Given the description of an element on the screen output the (x, y) to click on. 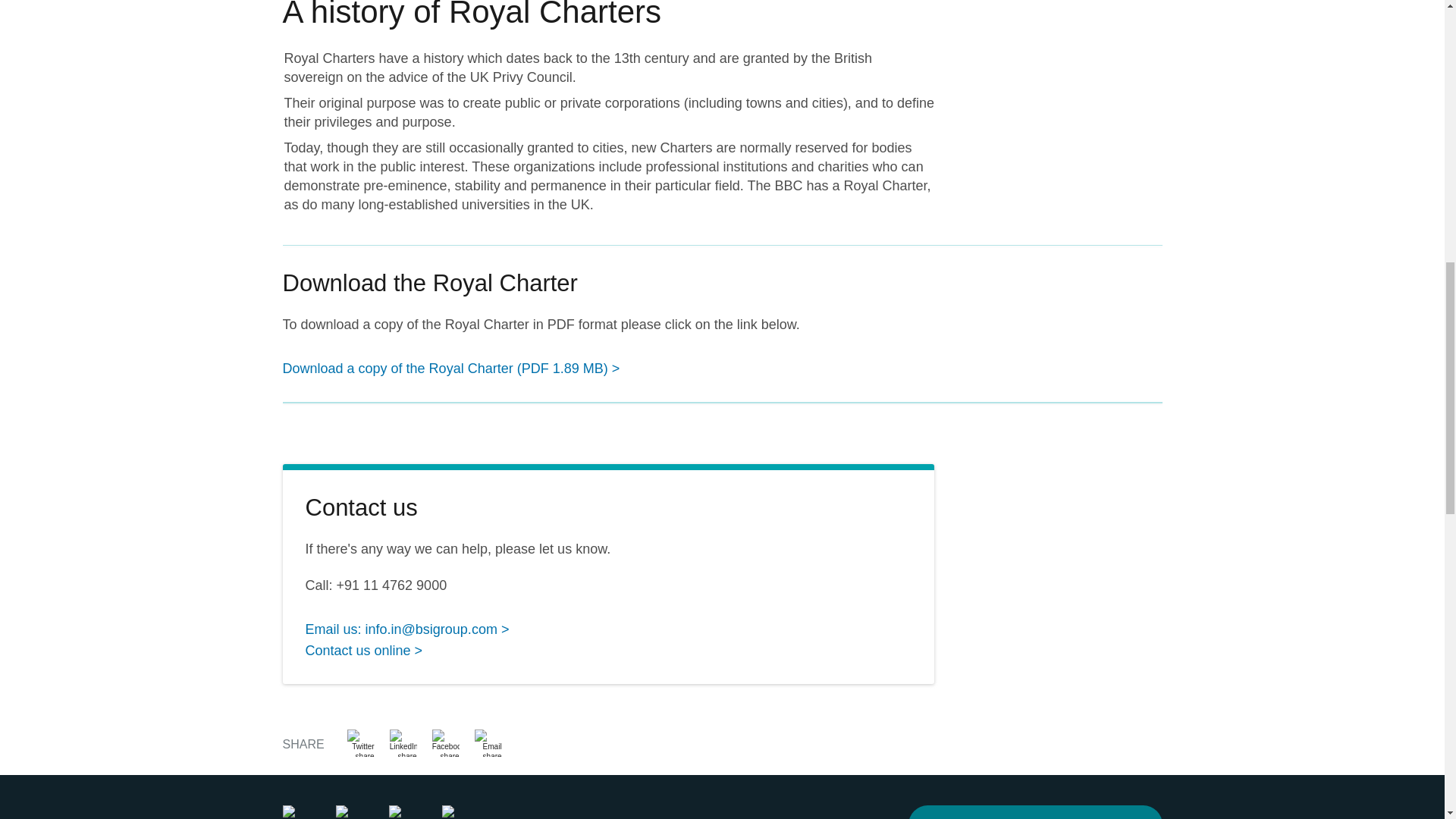
Sign up for our newsletter (1034, 812)
